Given the description of an element on the screen output the (x, y) to click on. 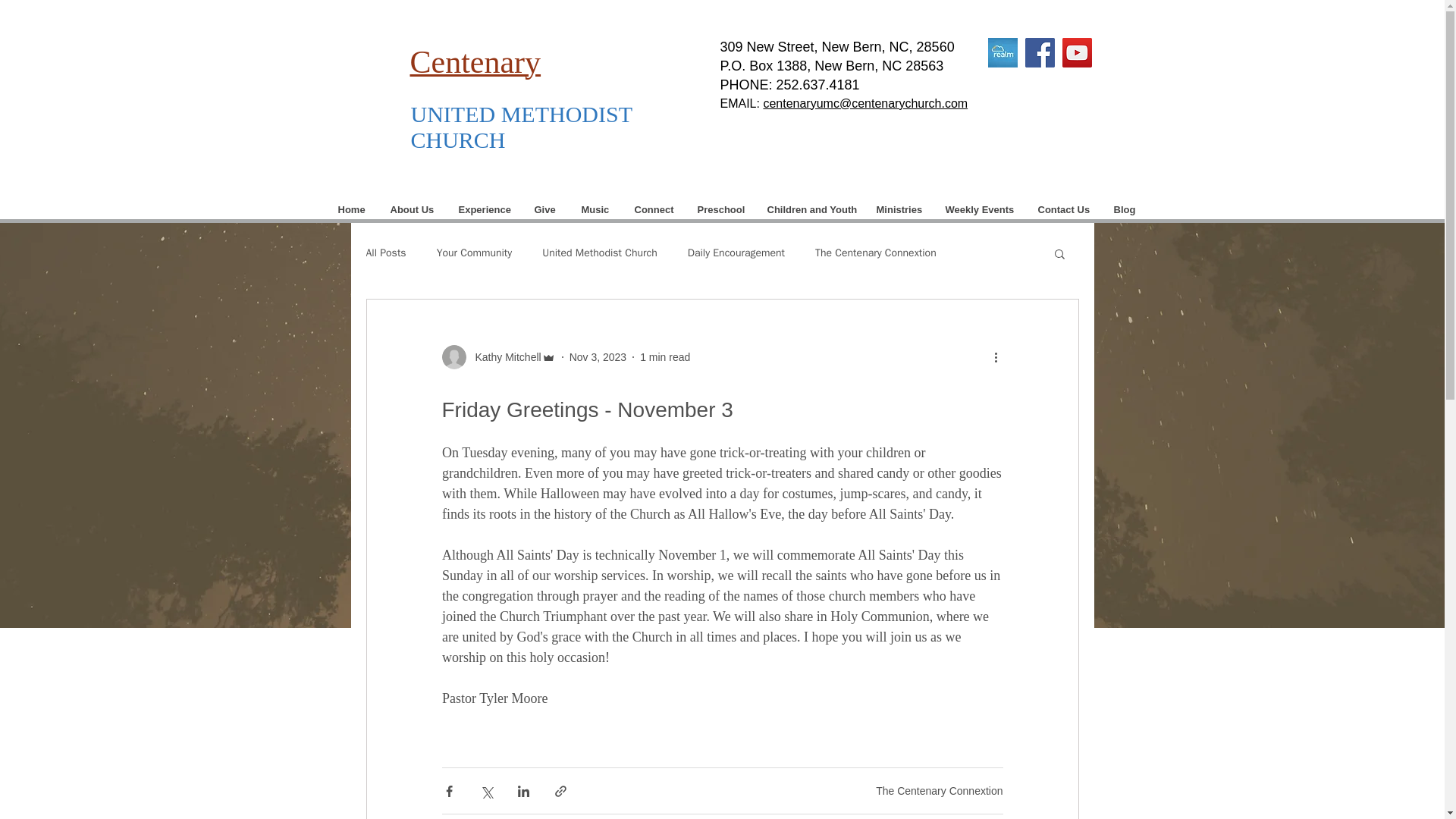
Give (545, 209)
Ministries (898, 209)
Home (351, 209)
Children and Youth (809, 209)
Centenary (474, 64)
About Us (411, 209)
UNITED METHODIST CHURCH (520, 126)
1 min read (665, 356)
Nov 3, 2023 (598, 356)
Kathy Mitchell (502, 356)
